Given the description of an element on the screen output the (x, y) to click on. 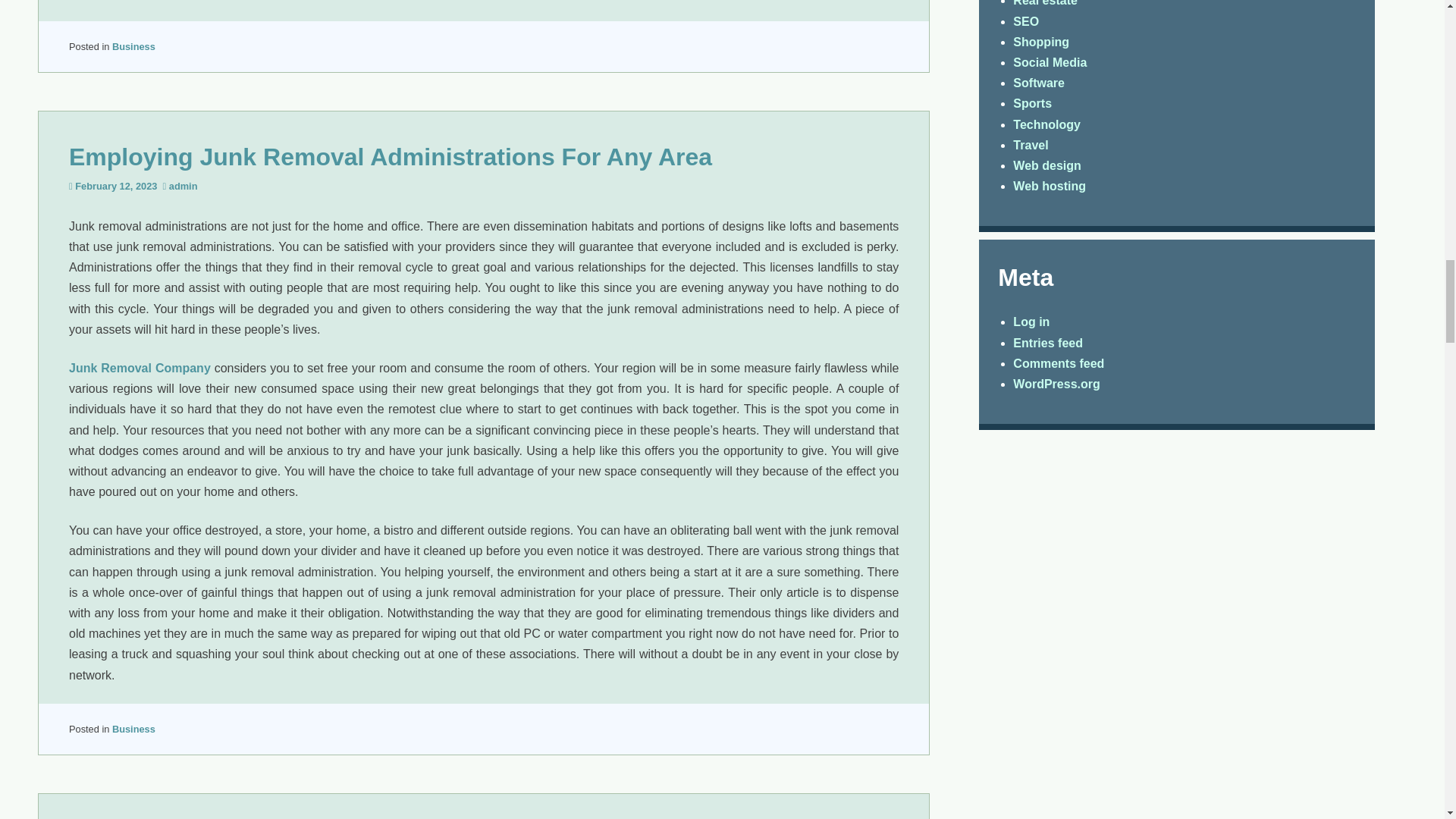
Business (133, 46)
admin (183, 185)
Junk Removal Company (139, 367)
Business (133, 728)
February 12, 2023 (116, 185)
Employing Junk Removal Administrations For Any Area (389, 156)
